Given the description of an element on the screen output the (x, y) to click on. 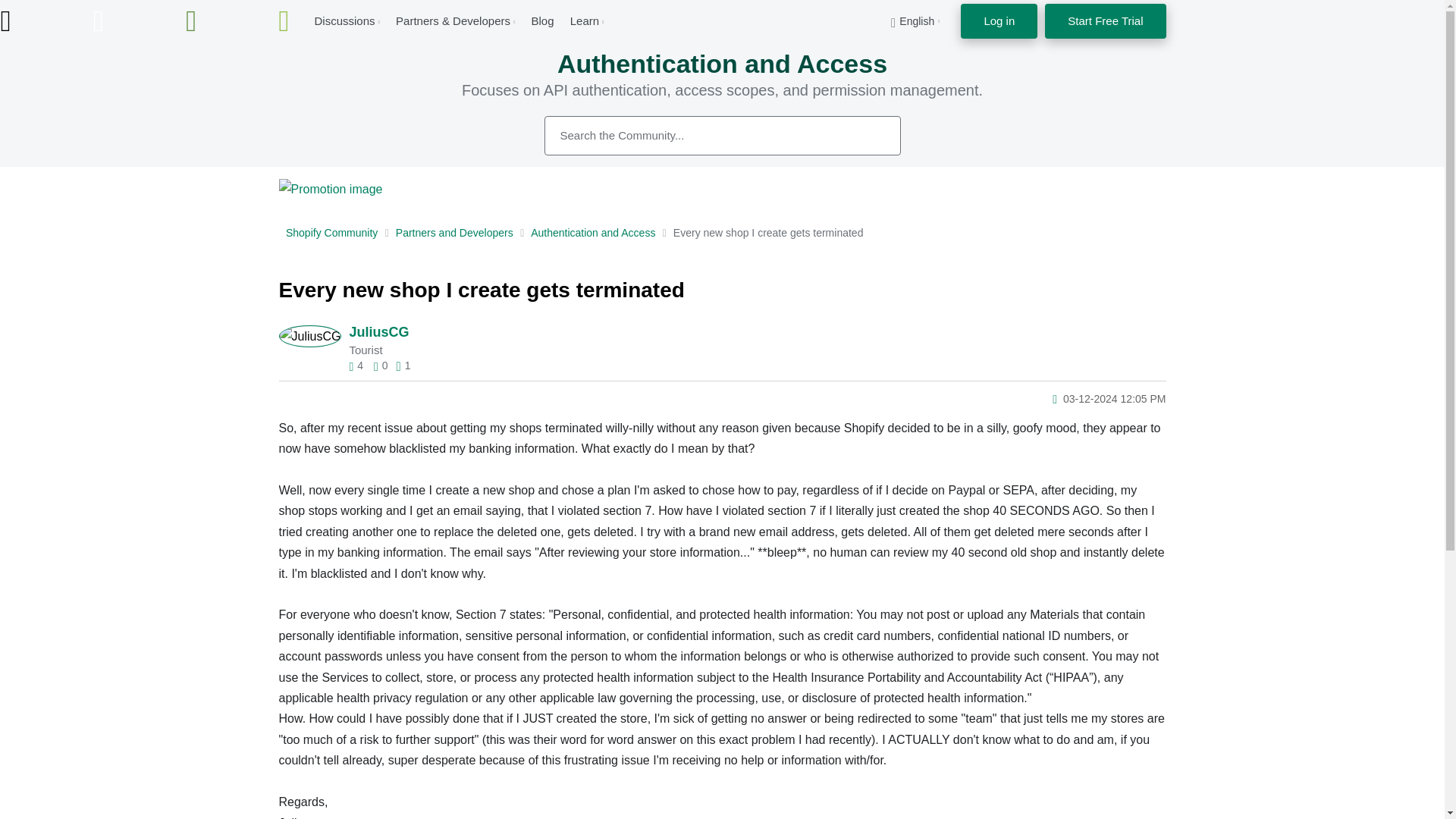
Search (872, 135)
Discussions (344, 20)
Search (722, 135)
Search (872, 135)
